Given the description of an element on the screen output the (x, y) to click on. 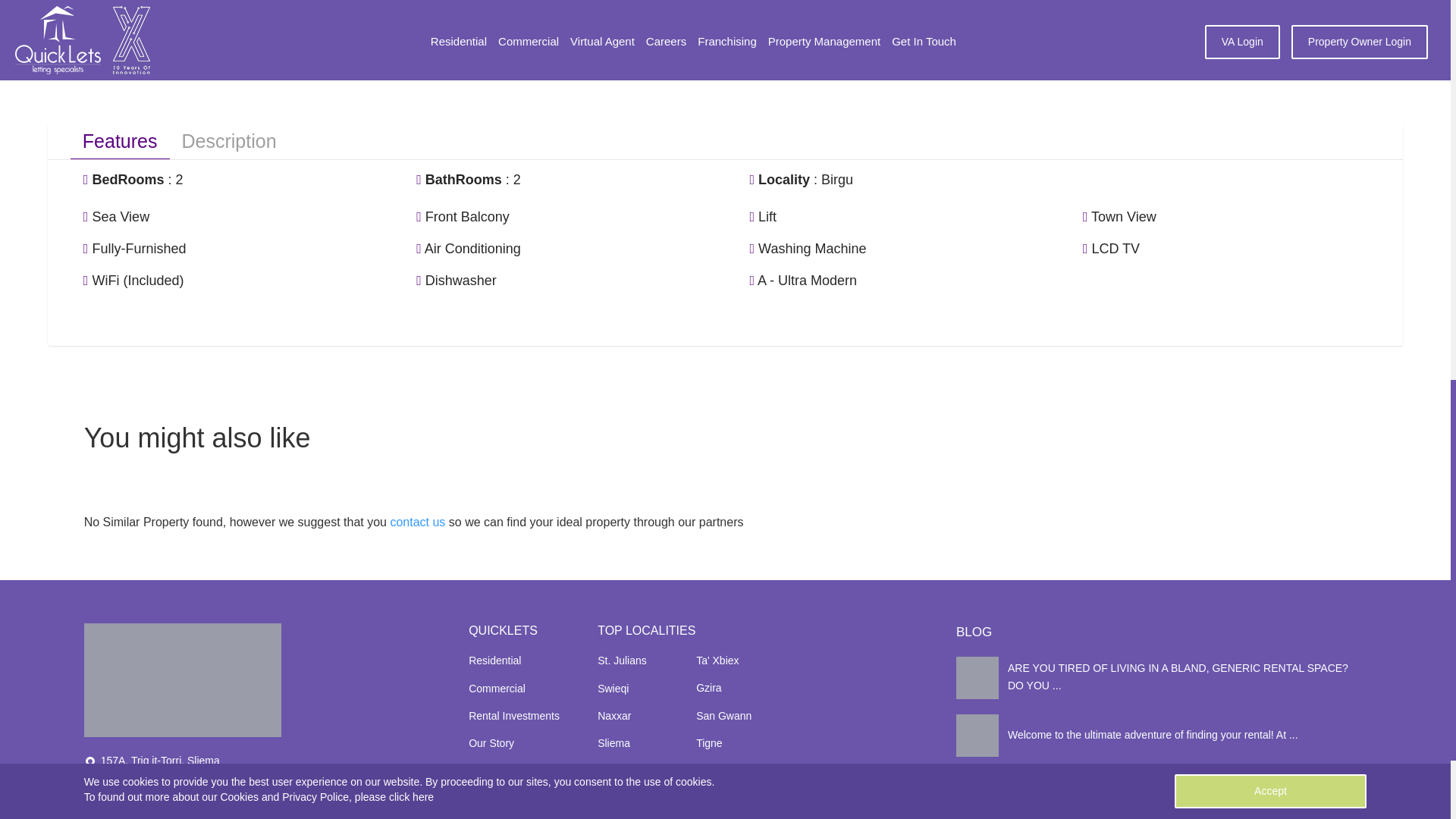
Quicklets (182, 680)
WhatsApp Head Office Sliema Manager (1153, 18)
Unleash Your Inner Designer: Top DIY Rental Makeovers (1161, 677)
Features (119, 140)
Description (229, 140)
Finding Your Rental: Fun Guide to Rentals (1161, 735)
contact us (417, 521)
